Given the description of an element on the screen output the (x, y) to click on. 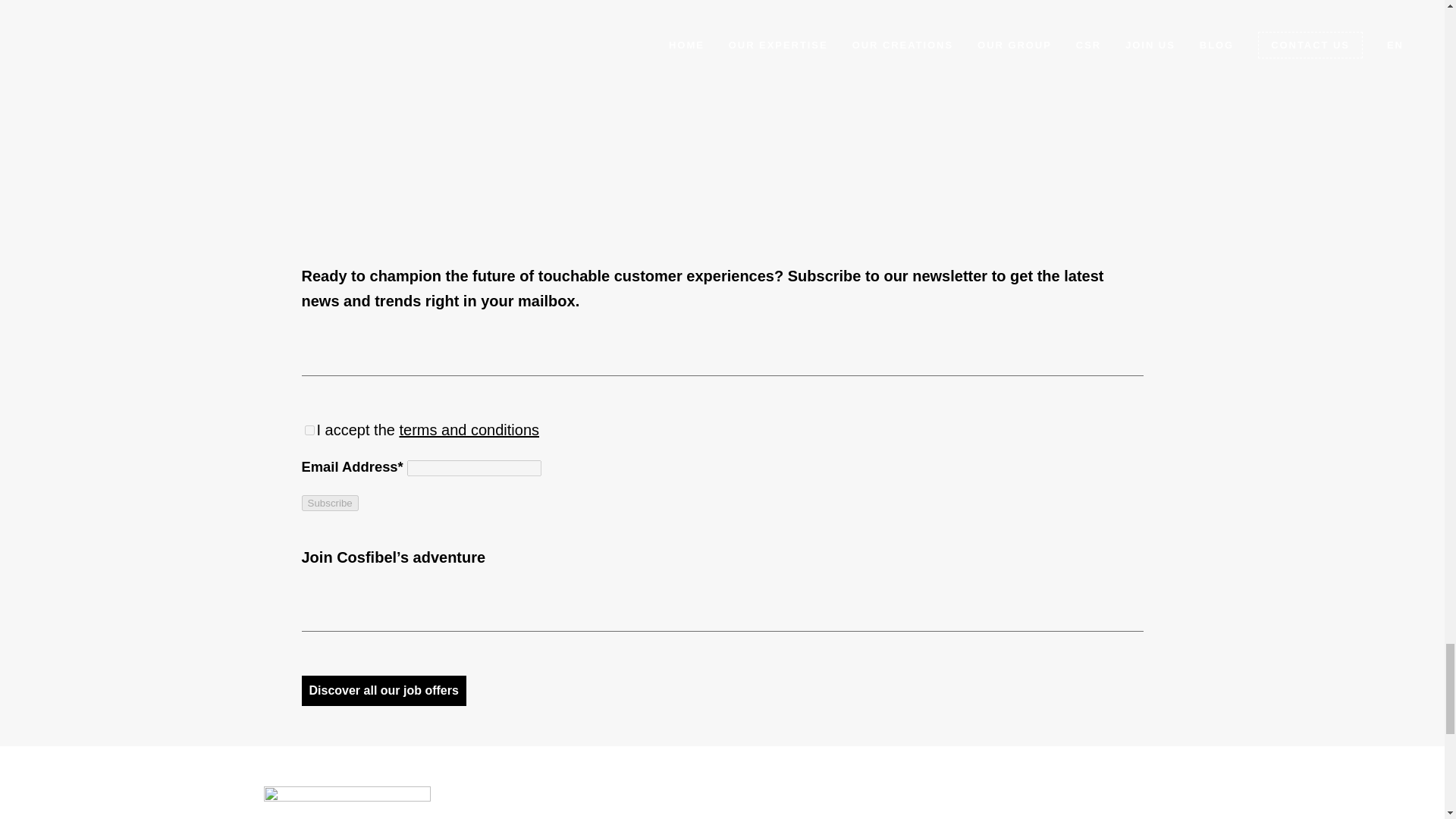
on (309, 429)
Subscribe (329, 503)
terms and conditions (468, 429)
Subscribe (329, 503)
Discover all our job offers (383, 690)
